Given the description of an element on the screen output the (x, y) to click on. 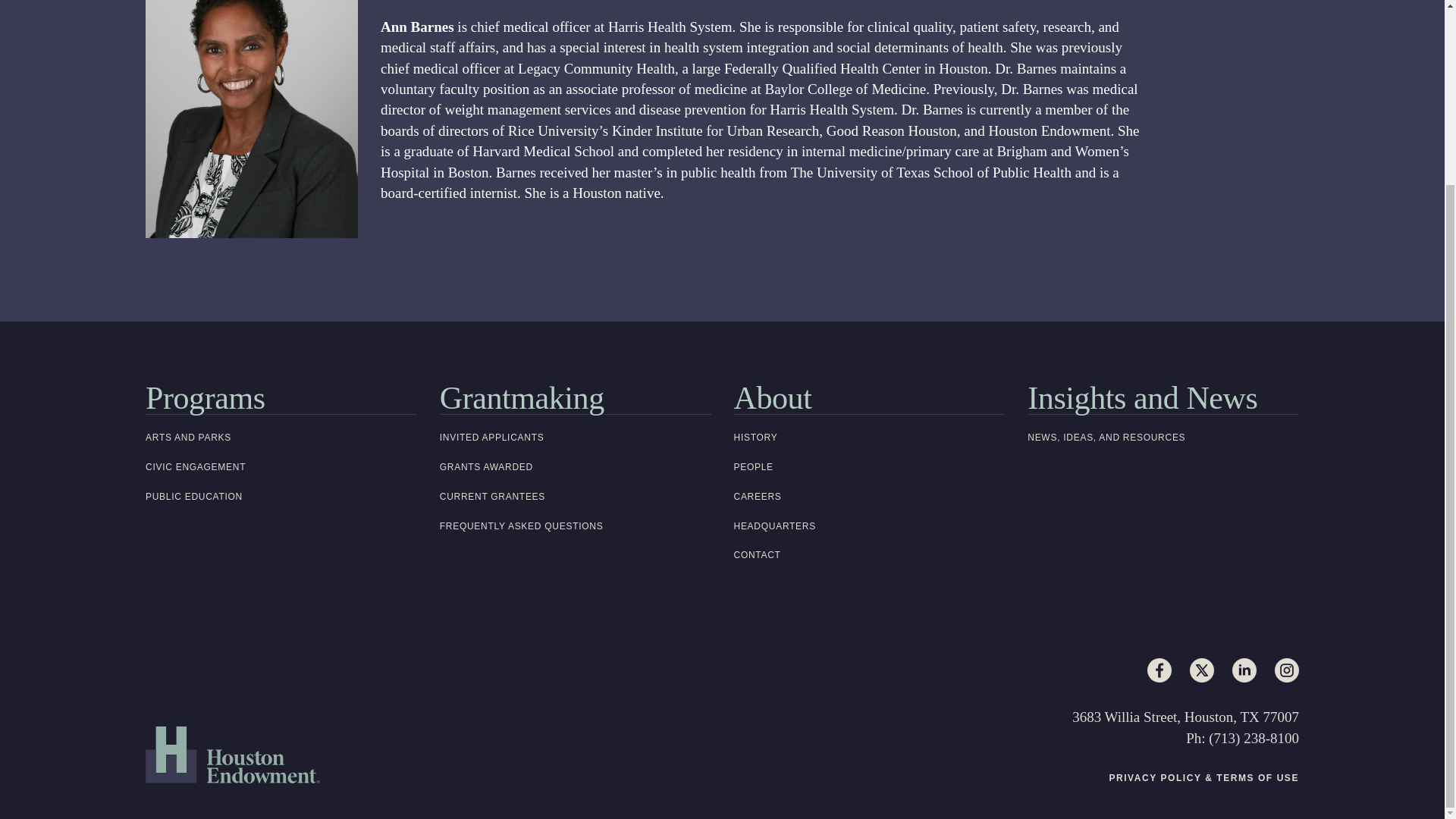
ARTS AND PARKS (280, 437)
CONTACT (869, 554)
About (869, 398)
CAREERS (869, 496)
FREQUENTLY ASKED QUESTIONS (575, 526)
CURRENT GRANTEES (575, 496)
CIVIC ENGAGEMENT (280, 467)
PUBLIC EDUCATION (280, 496)
Programs (280, 398)
PEOPLE (869, 467)
